Given the description of an element on the screen output the (x, y) to click on. 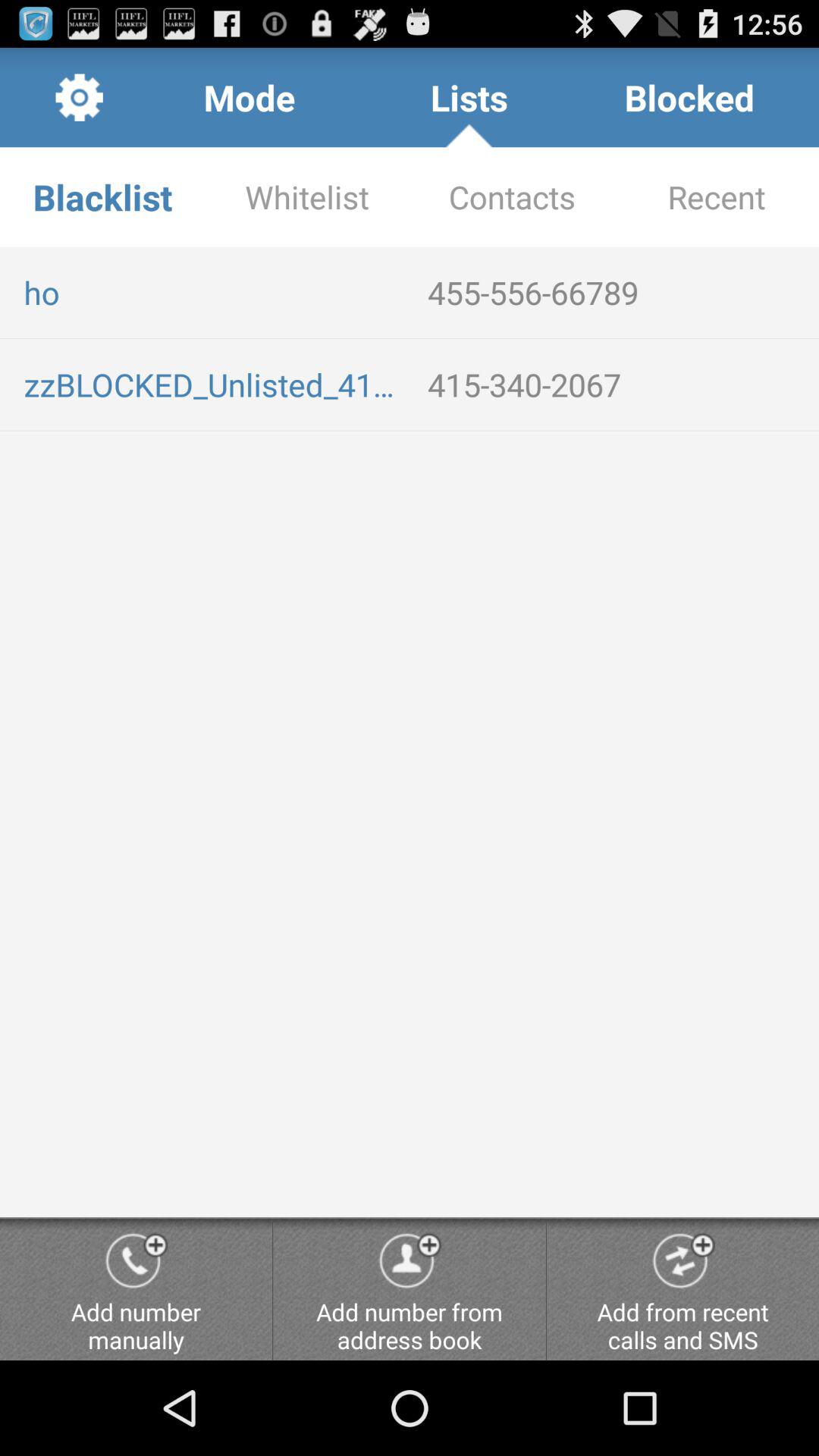
choose the app to the right of the blacklist app (306, 196)
